Given the description of an element on the screen output the (x, y) to click on. 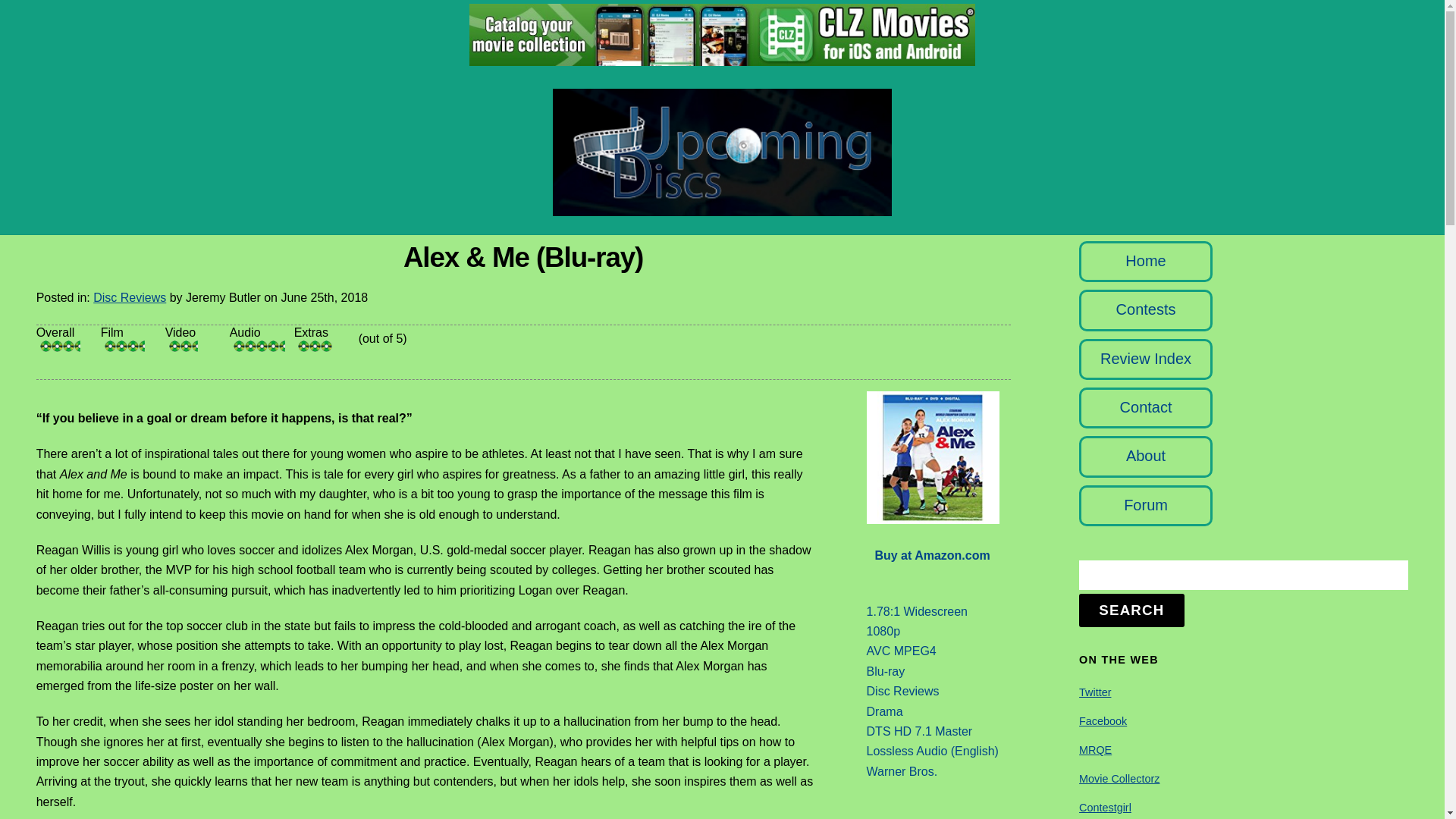
AVC MPEG4 (901, 650)
Warner Bros. (901, 771)
Disc Reviews (129, 297)
1.78:1 Widescreen (917, 611)
Search (1242, 574)
Drama (884, 711)
Blu-ray (885, 671)
UpcomingDiscs.com (722, 208)
1080p (883, 631)
Disc Reviews (902, 690)
